Given the description of an element on the screen output the (x, y) to click on. 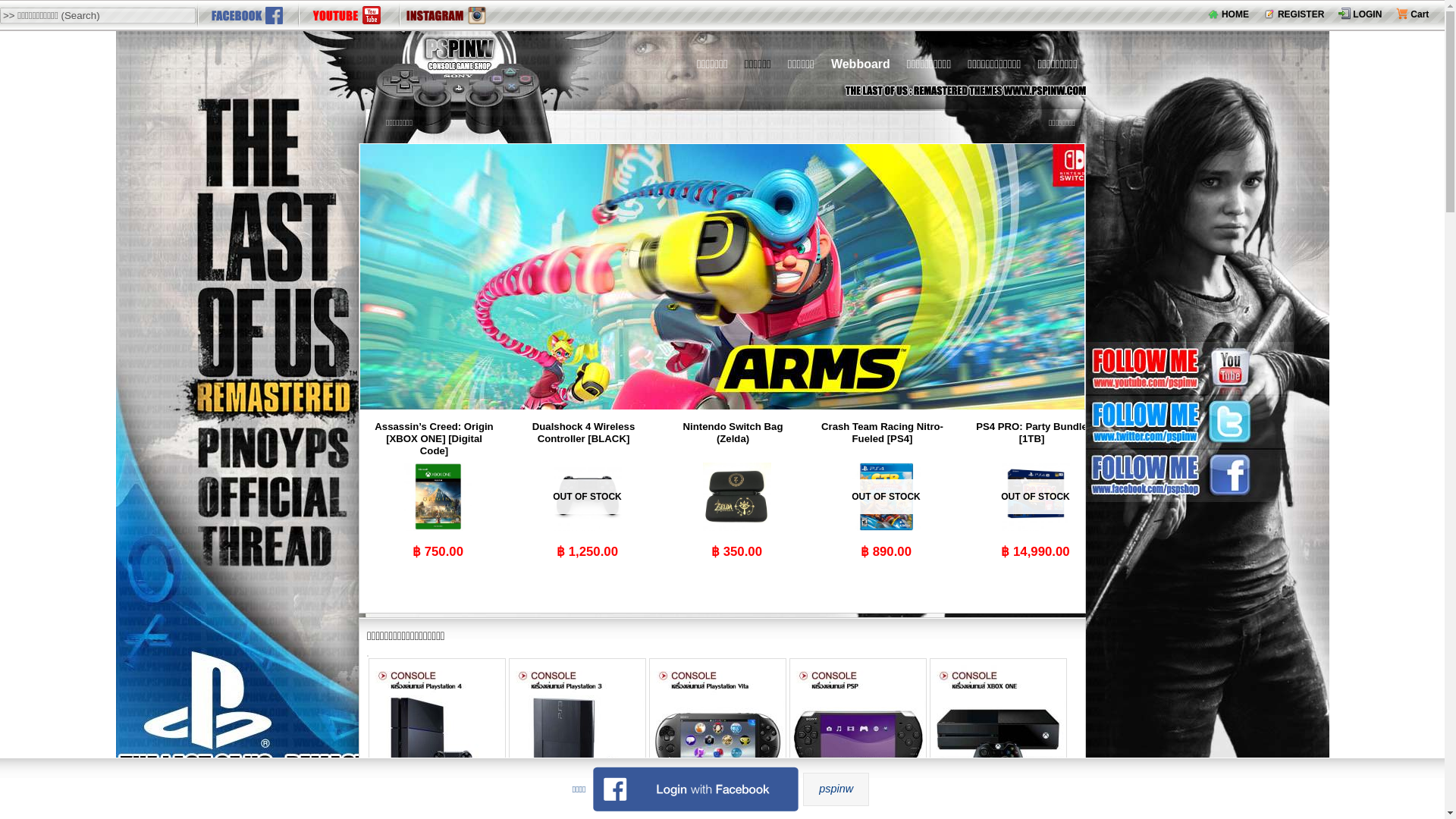
HOME (1228, 14)
Add to Cart (736, 572)
Add to Cart (885, 572)
Cart (1412, 14)
Add to Cart (437, 572)
Add to Cart (1035, 572)
LOGIN (1359, 14)
Add to Cart (586, 572)
Search (21, 7)
Add to Cart (437, 572)
REGISTER (1293, 14)
